Given the description of an element on the screen output the (x, y) to click on. 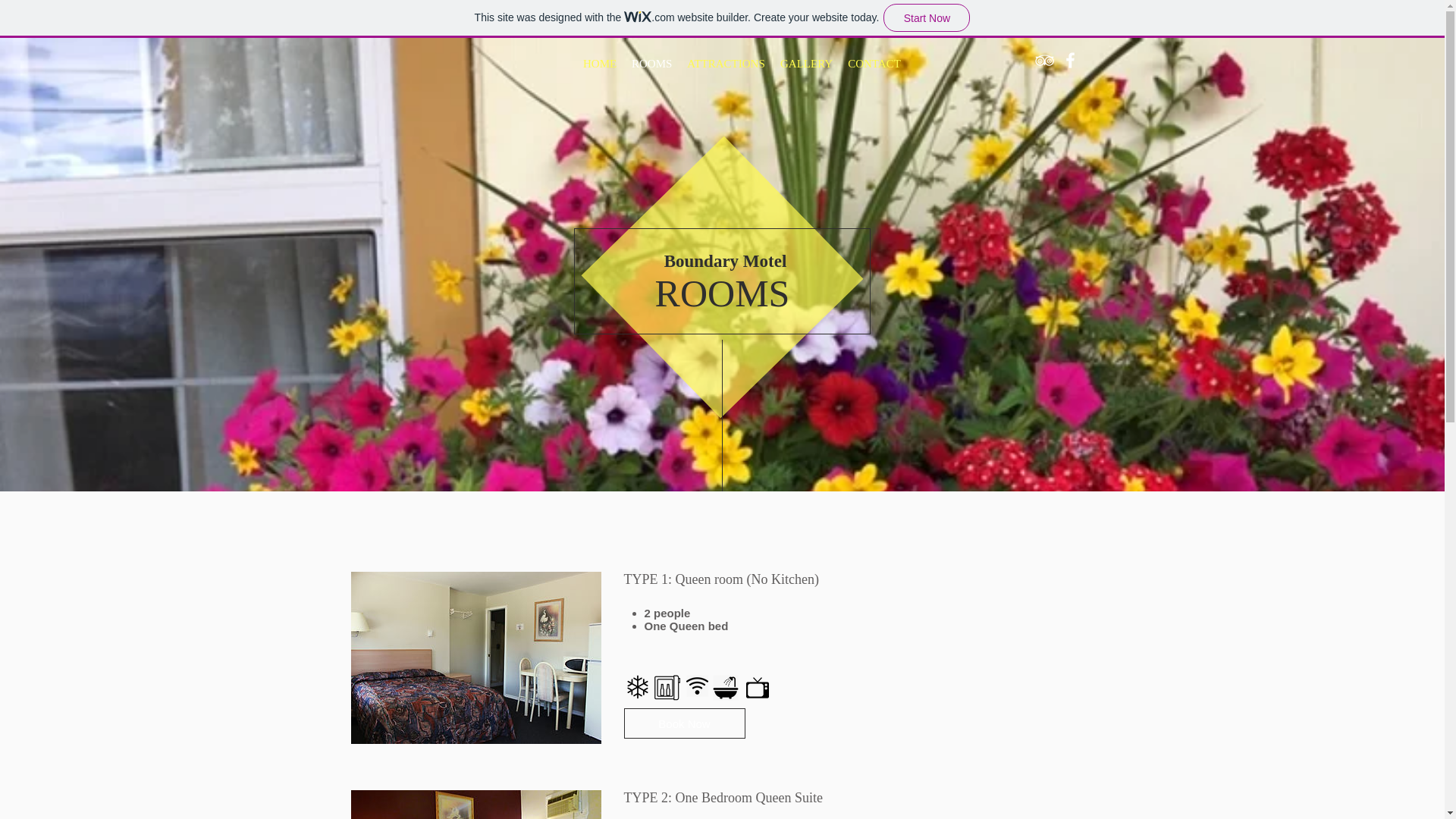
ATTRACTIONS (726, 63)
Boundary Motel (725, 261)
TYPE 1: Queen room (474, 657)
 TYPE 2: One Bedroom Queen Suite (474, 804)
CONTACT (874, 63)
Book Now (683, 723)
ROOMS (722, 292)
HOME (599, 63)
ROOMS (651, 63)
GALLERY (806, 63)
